Given the description of an element on the screen output the (x, y) to click on. 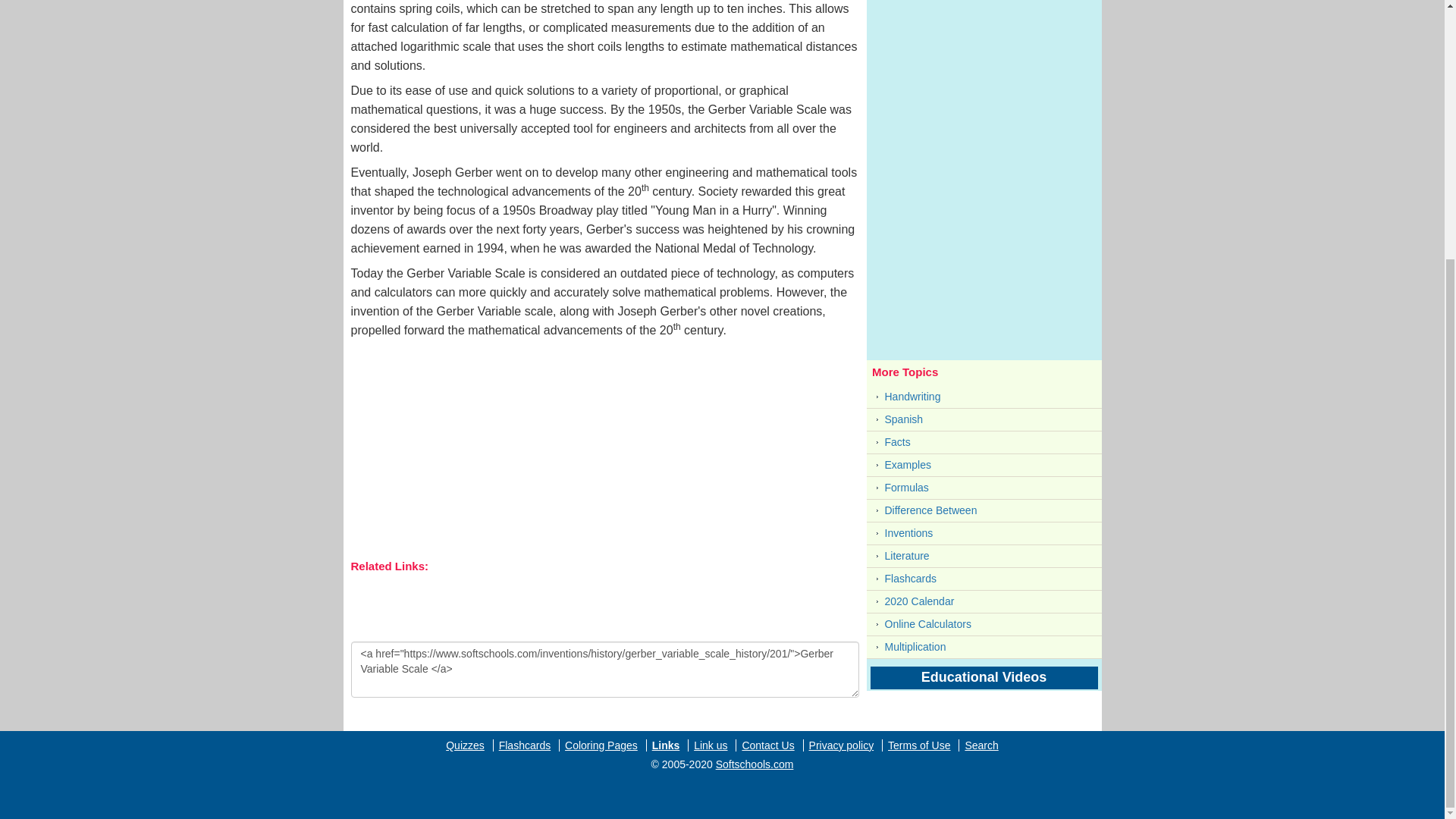
Examples (984, 465)
Formulas (984, 487)
Handwriting (984, 396)
Literature (984, 556)
2020 Calendar (984, 601)
Difference Between (984, 510)
Spanish (984, 419)
Flashcards (984, 579)
Online Calculators (984, 624)
Multiplication (984, 647)
Facts (984, 442)
Inventions (984, 533)
